Given the description of an element on the screen output the (x, y) to click on. 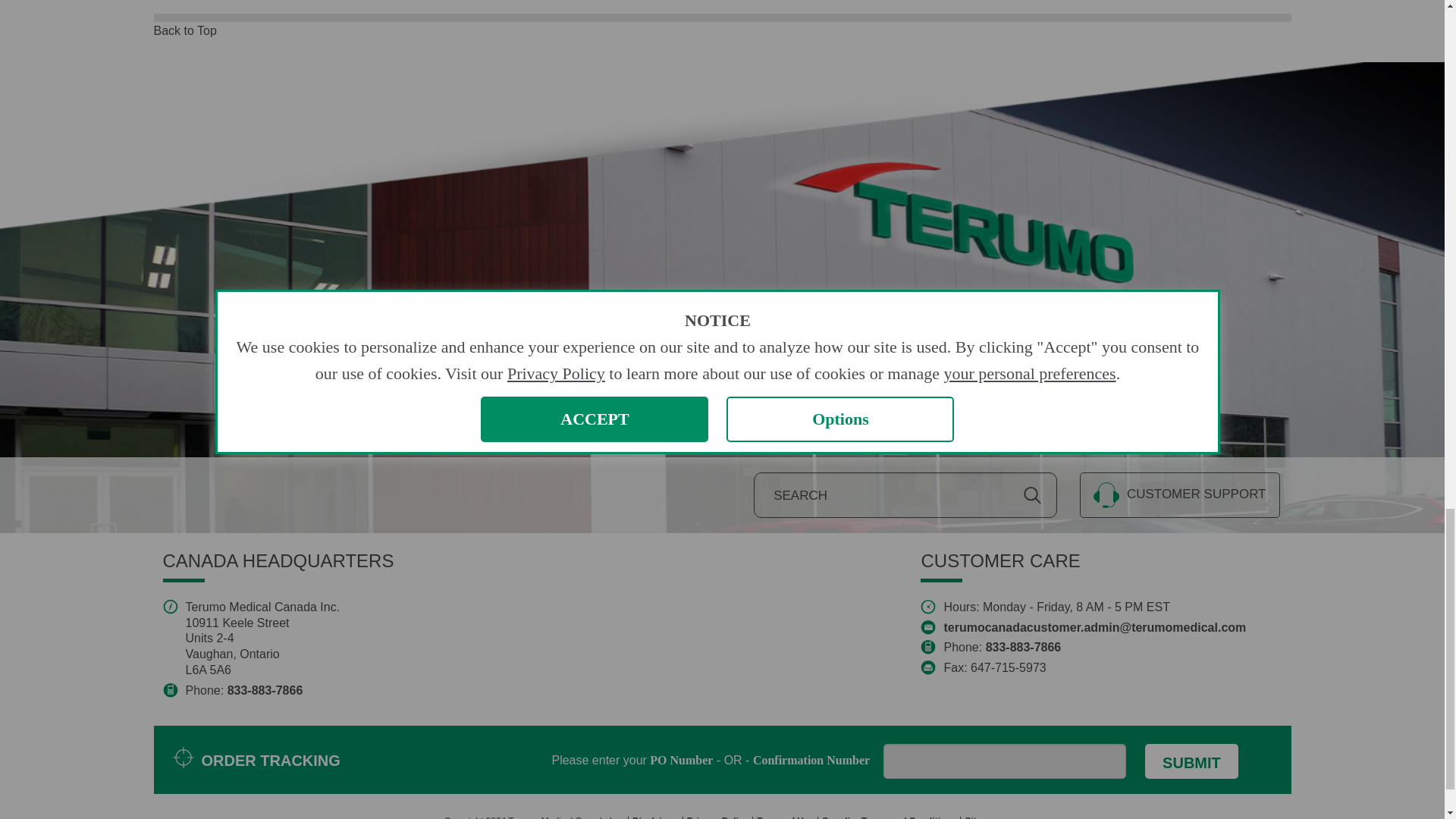
SUBMIT (1191, 760)
